Given the description of an element on the screen output the (x, y) to click on. 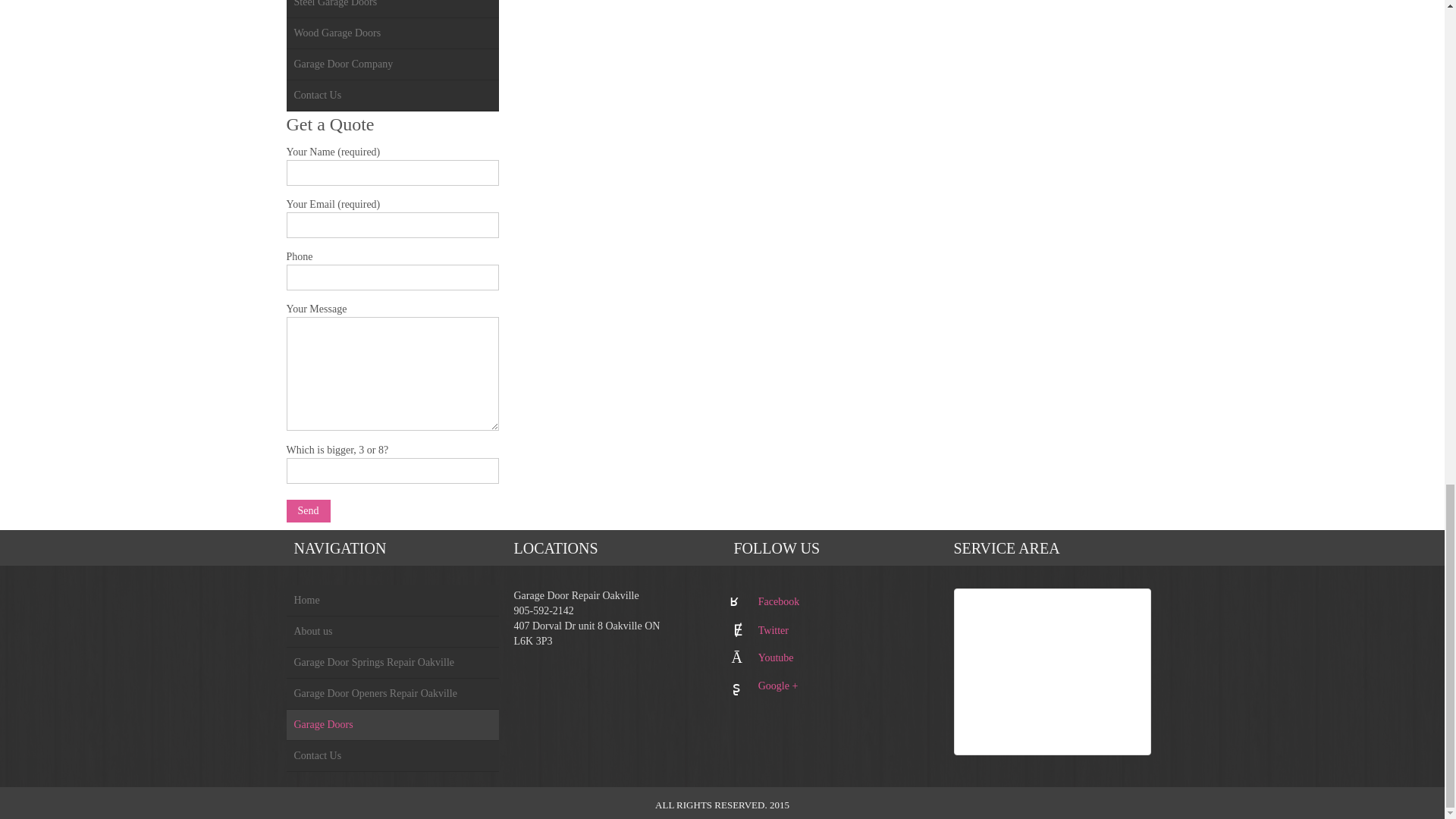
Send (308, 510)
